Given the description of an element on the screen output the (x, y) to click on. 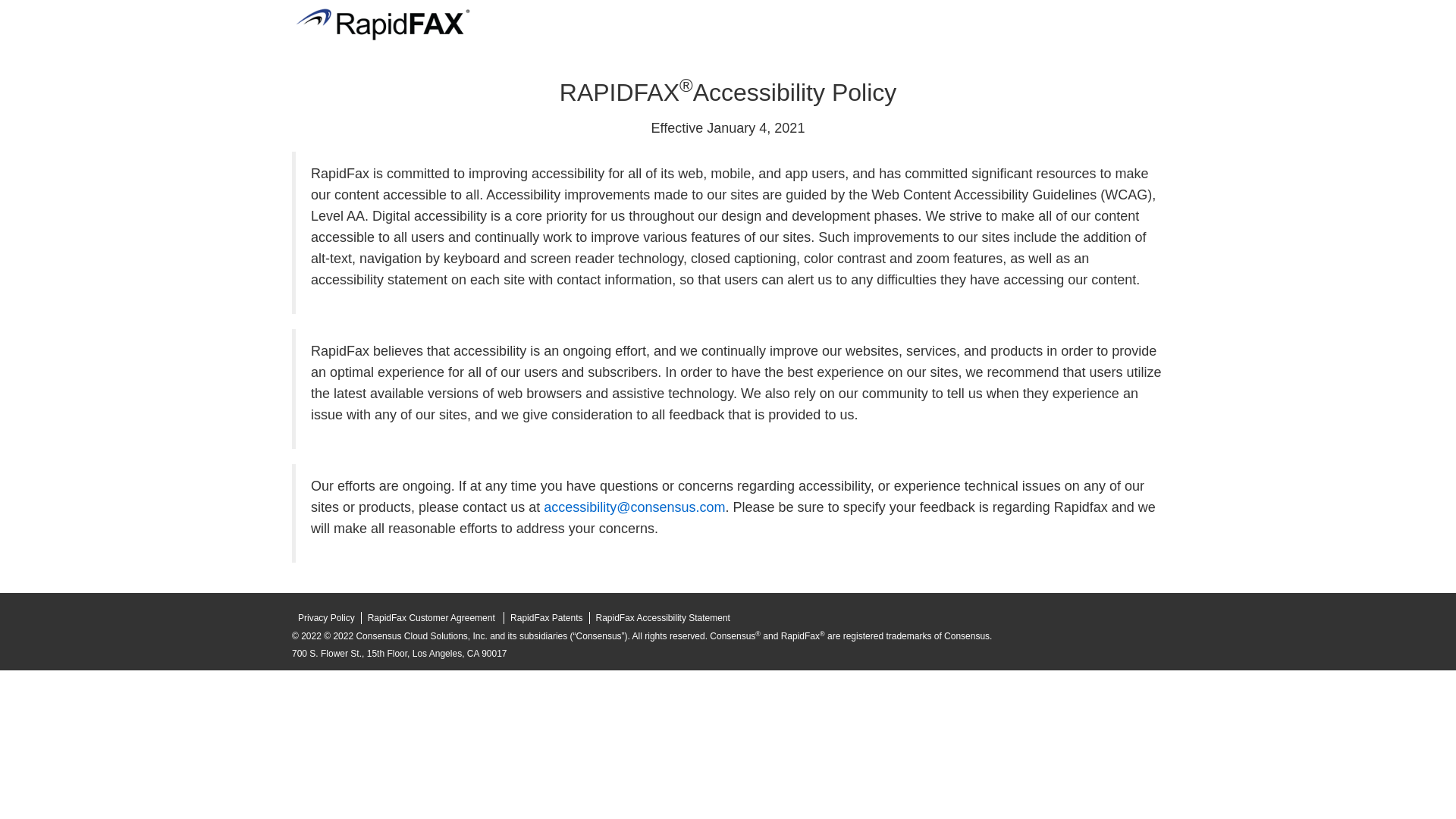
RapidFax Patents (545, 617)
Privacy Policy (326, 617)
RapidFax Accessibility Statement (662, 617)
RapidFax Customer Agreement  (432, 617)
